Given the description of an element on the screen output the (x, y) to click on. 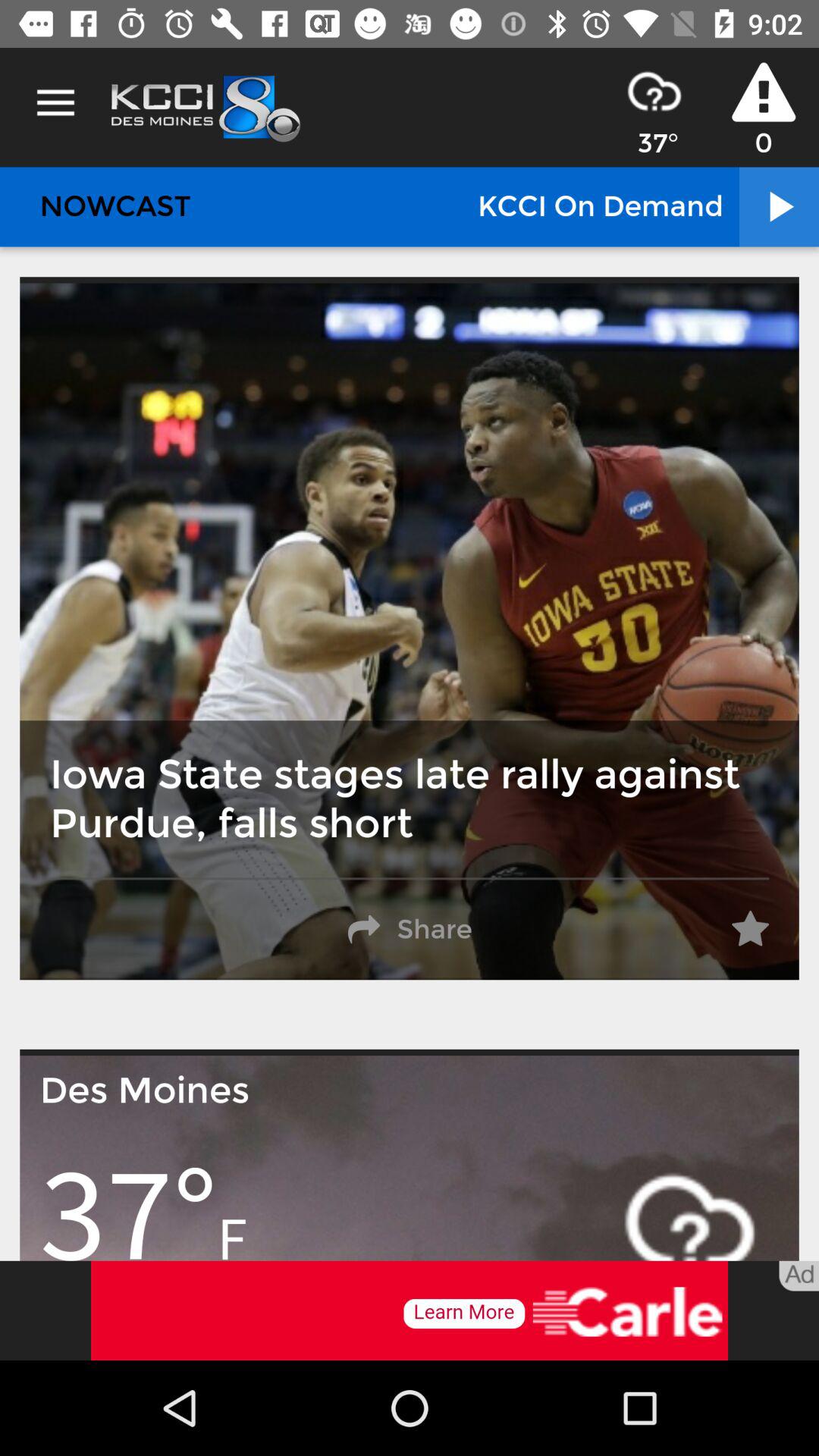
advertisement (409, 1310)
